Given the description of an element on the screen output the (x, y) to click on. 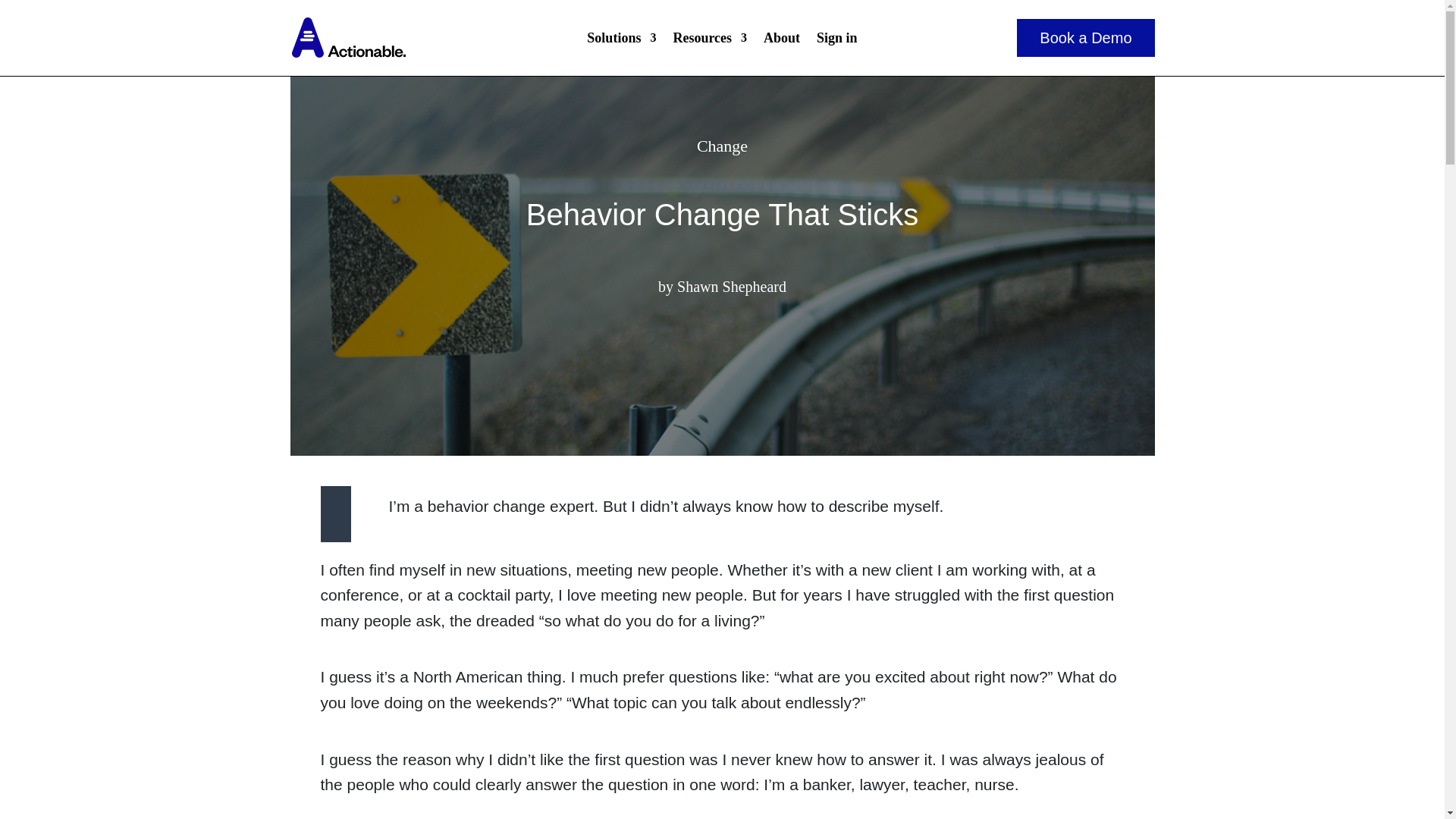
About (780, 40)
Sign in (836, 40)
Solutions (621, 40)
Change (722, 145)
Book a Demo (1085, 37)
Book a Demo (1085, 37)
Resources (709, 40)
